Given the description of an element on the screen output the (x, y) to click on. 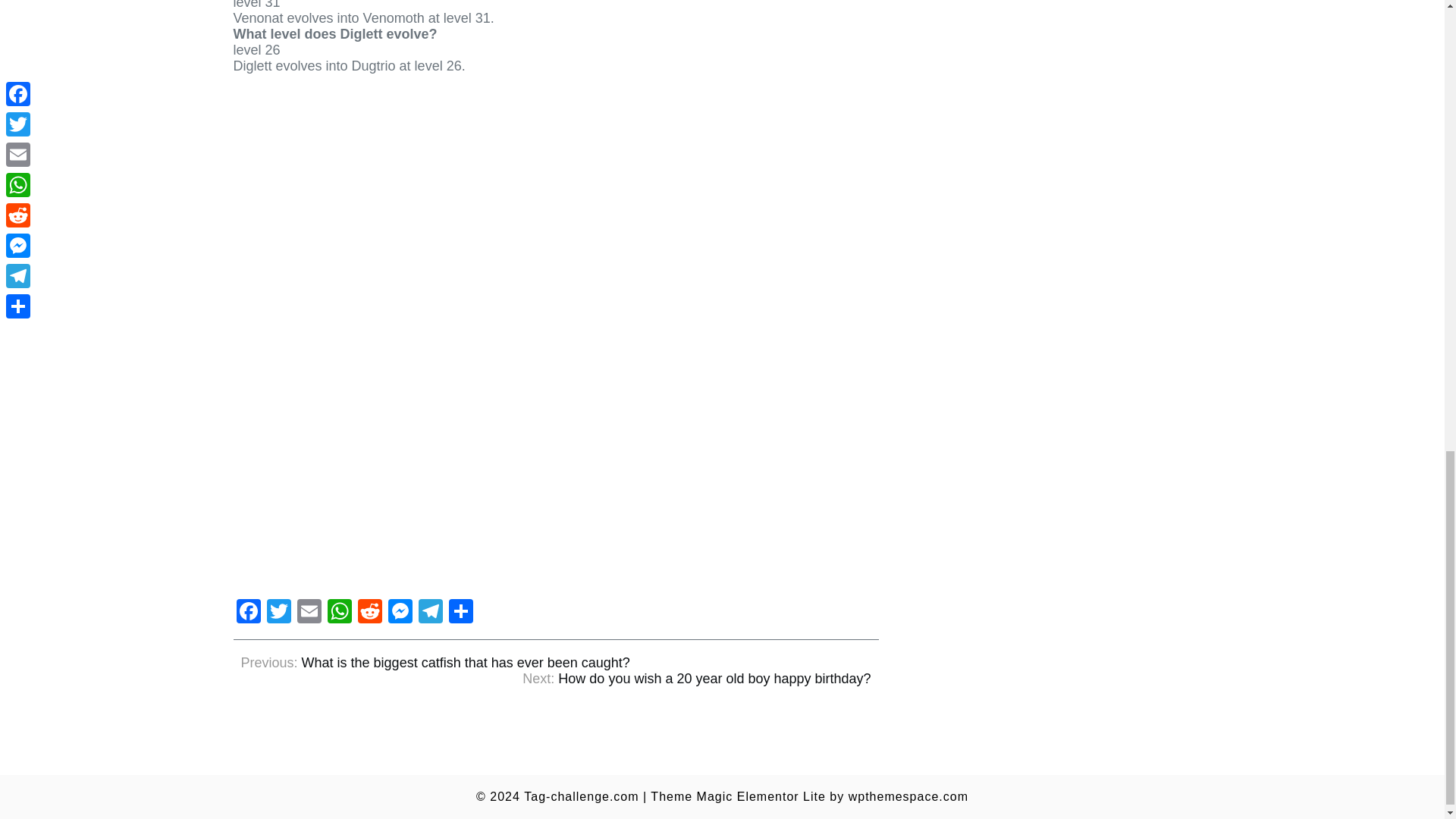
Share (460, 612)
Messenger (399, 612)
Facebook (247, 612)
Twitter (278, 612)
Facebook (247, 612)
Twitter (278, 612)
Next: How do you wish a 20 year old boy happy birthday? (696, 678)
Tag-challenge.com (581, 796)
Reddit (370, 612)
Email (309, 612)
Telegram (429, 612)
WhatsApp (339, 612)
Email (309, 612)
Reddit (370, 612)
